Given the description of an element on the screen output the (x, y) to click on. 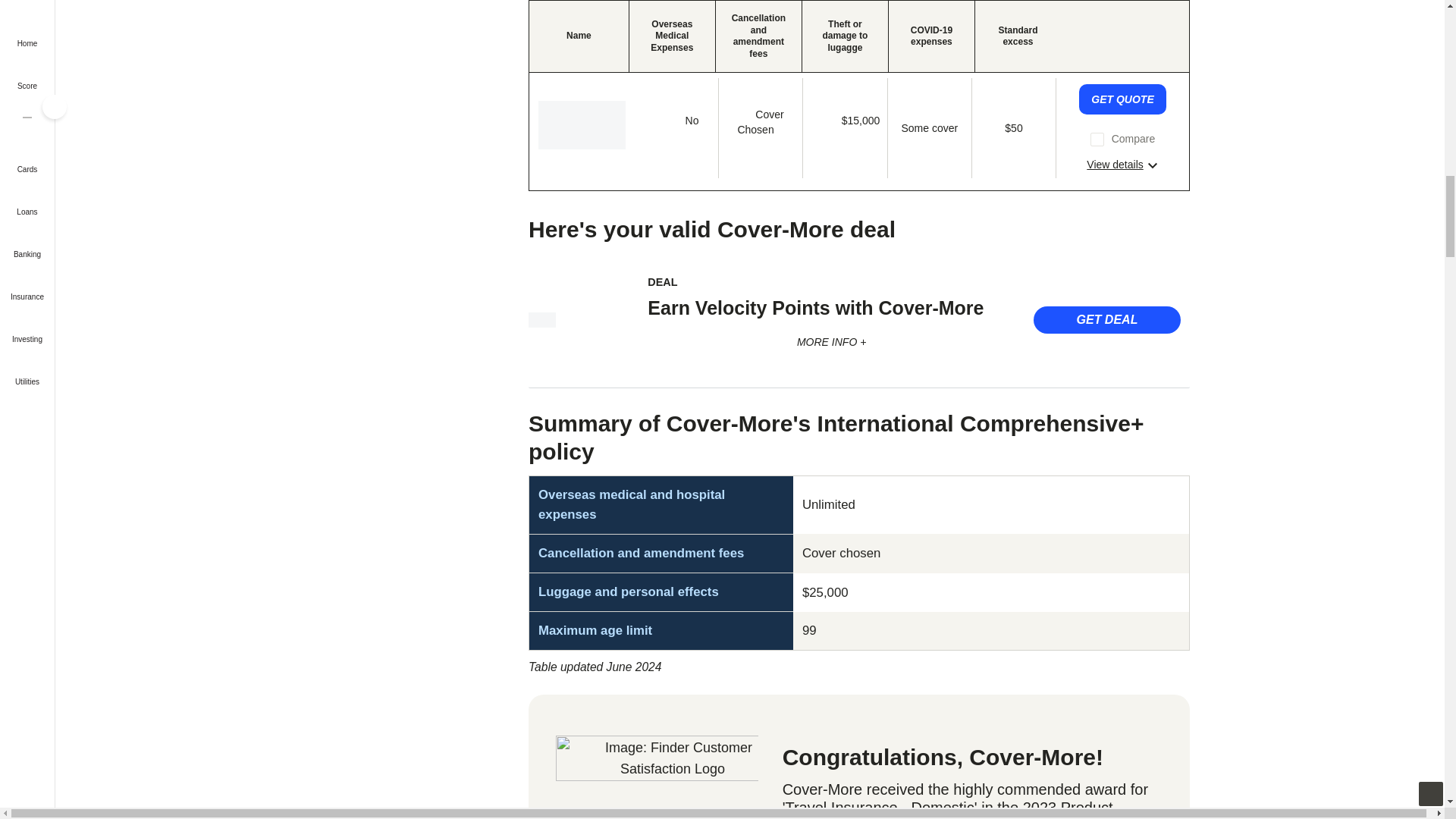
CoverMore Travel Insurance (542, 319)
Image: Finder Customer Satisfaction Logo (657, 777)
